Given the description of an element on the screen output the (x, y) to click on. 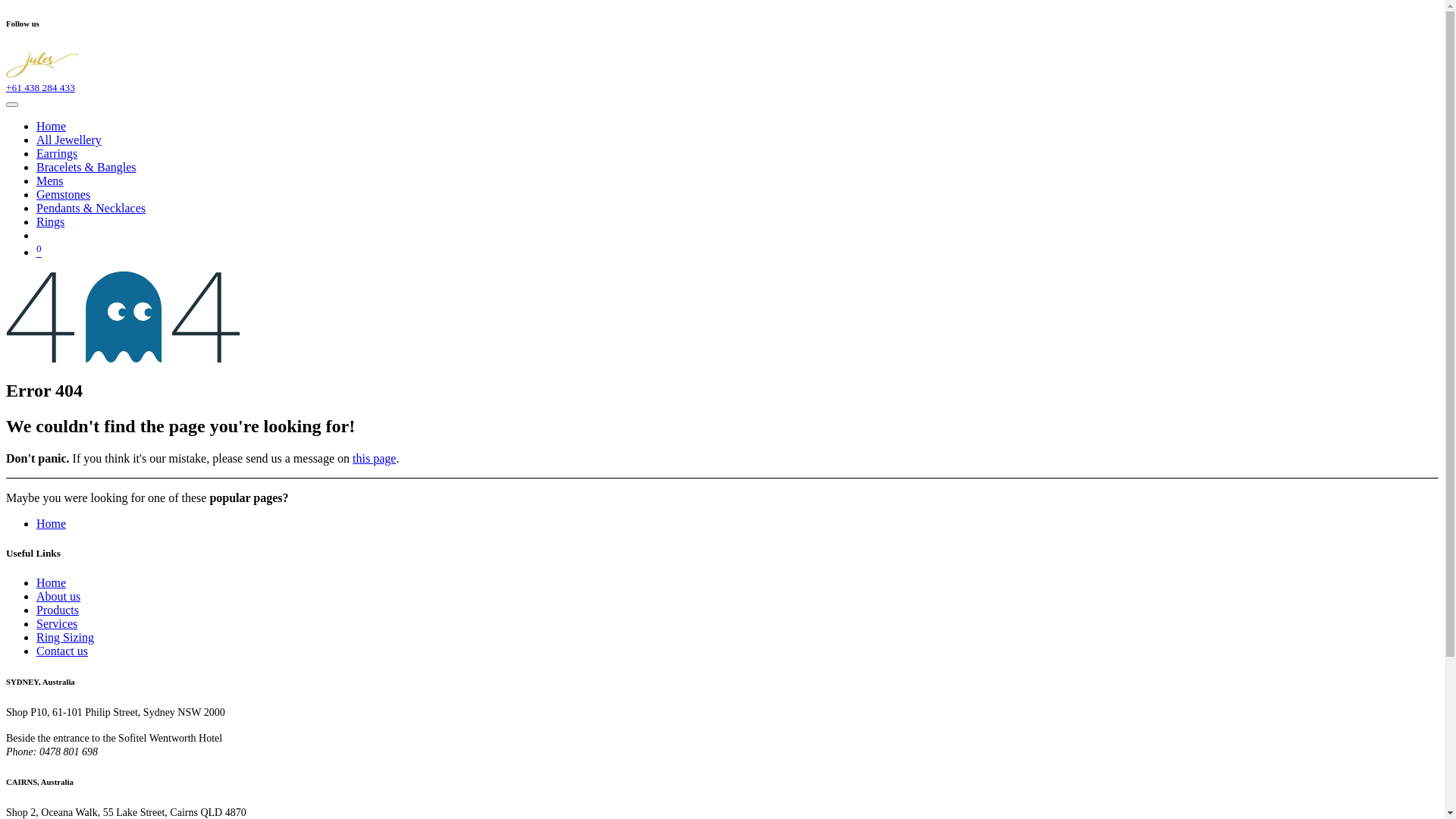
Bracelets & Bangles Element type: text (86, 166)
About us Element type: text (58, 595)
Earrings Element type: text (56, 153)
this page Element type: text (373, 457)
Contact us Element type: text (61, 650)
+61 438 284 433 Element type: text (40, 87)
Rings Element type: text (50, 221)
Pendants & Necklaces Element type: text (90, 207)
Services Element type: text (56, 623)
Home Element type: text (50, 582)
Home Element type: text (50, 125)
0 Element type: text (38, 251)
Products Element type: text (57, 609)
Mens Element type: text (49, 180)
All Jewellery Element type: text (68, 139)
Jules Collins Jewellery Element type: hover (42, 72)
Home Element type: text (50, 523)
Gemstones Element type: text (63, 194)
Ring Sizing Element type: text (65, 636)
